Given the description of an element on the screen output the (x, y) to click on. 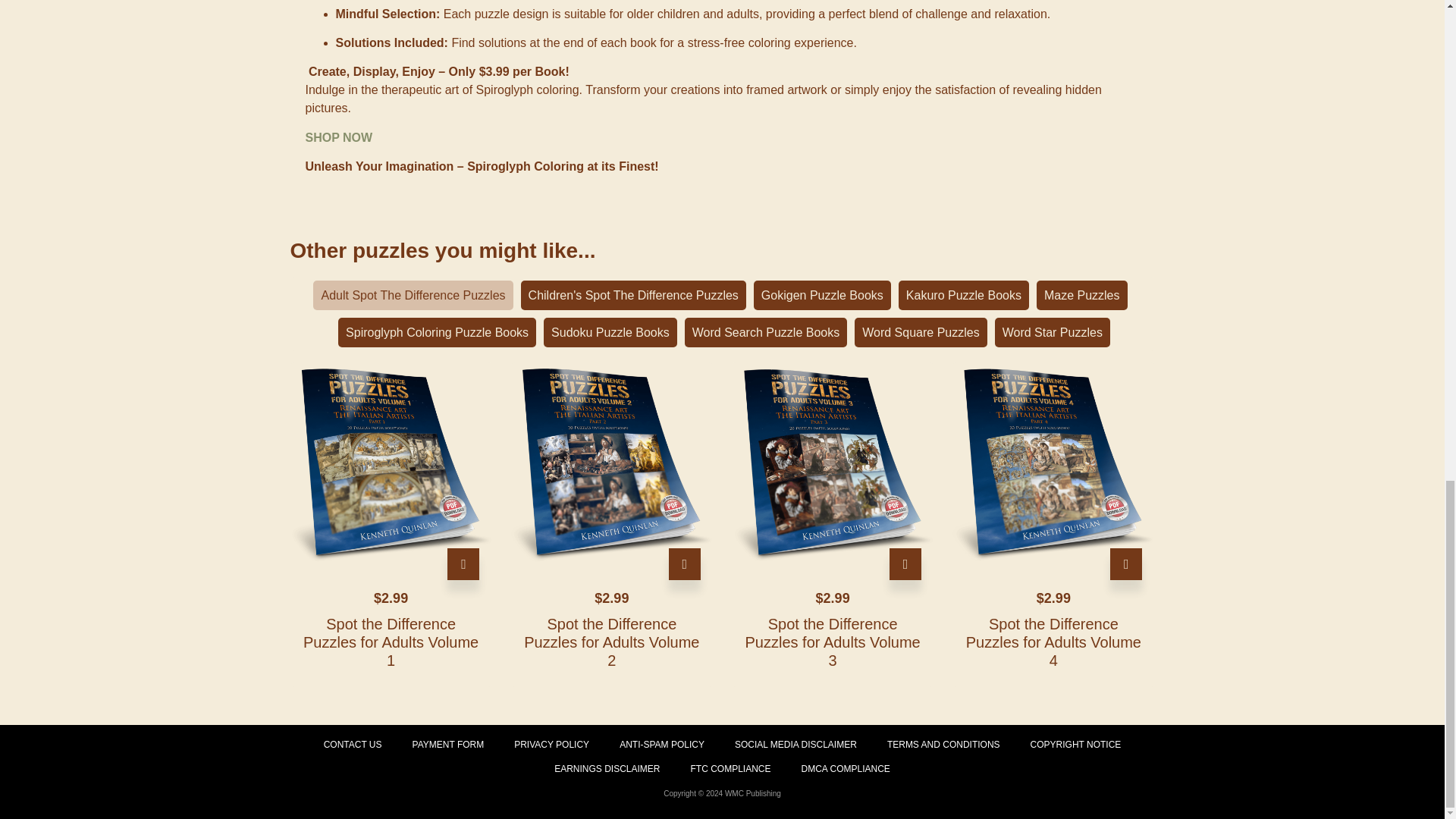
SHOP NOW (338, 137)
Word Search Puzzle Books (765, 332)
Children's Spot The Difference Puzzles (633, 295)
Gokigen Puzzle Books (822, 295)
Spiroglyph Coloring Puzzle Books (436, 332)
Maze Puzzles (1081, 295)
Kakuro Puzzle Books (963, 295)
Word Star Puzzles (1051, 332)
Word Square Puzzles (920, 332)
Sudoku Puzzle Books (610, 332)
Adult Spot The Difference Puzzles (412, 295)
